Given the description of an element on the screen output the (x, y) to click on. 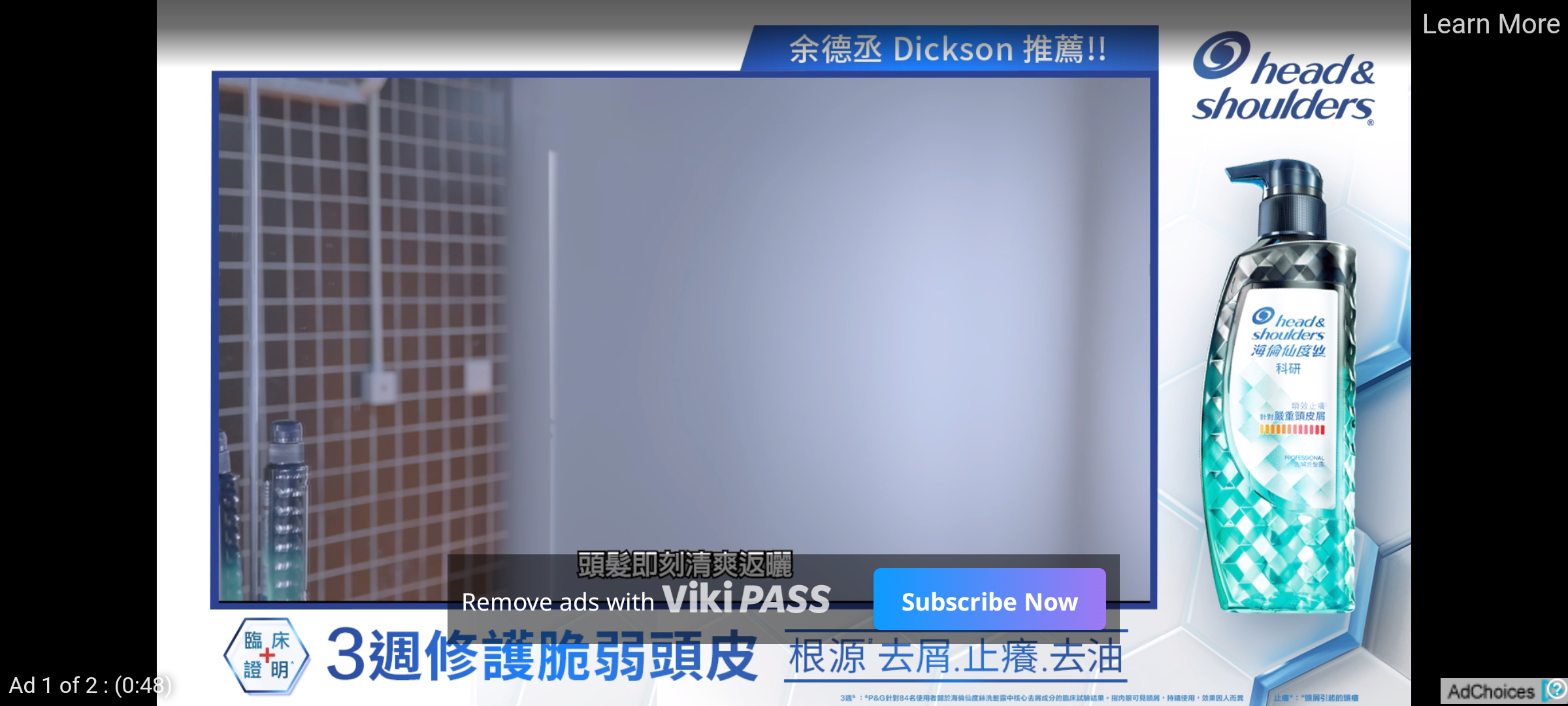
Learn More (1490, 24)
Subscribe Now (989, 599)
Ad 1 of 2 : (0:48) (90, 684)
help_outline_white_24dp_with_3px_trbl_padding (1553, 688)
get?name=admarker-full-tl (1504, 690)
